Given the description of an element on the screen output the (x, y) to click on. 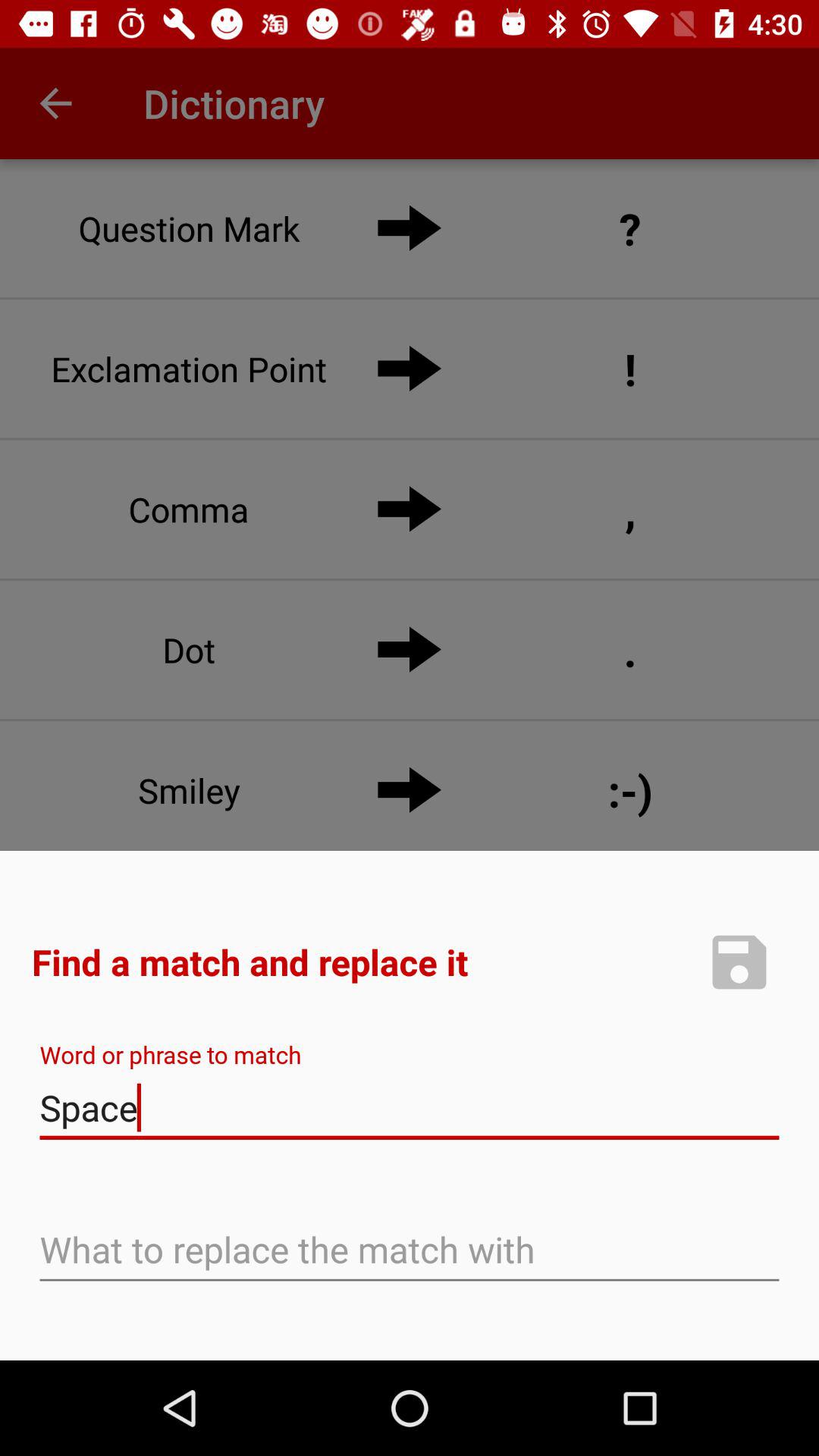
what to replace the match with (409, 1251)
